Given the description of an element on the screen output the (x, y) to click on. 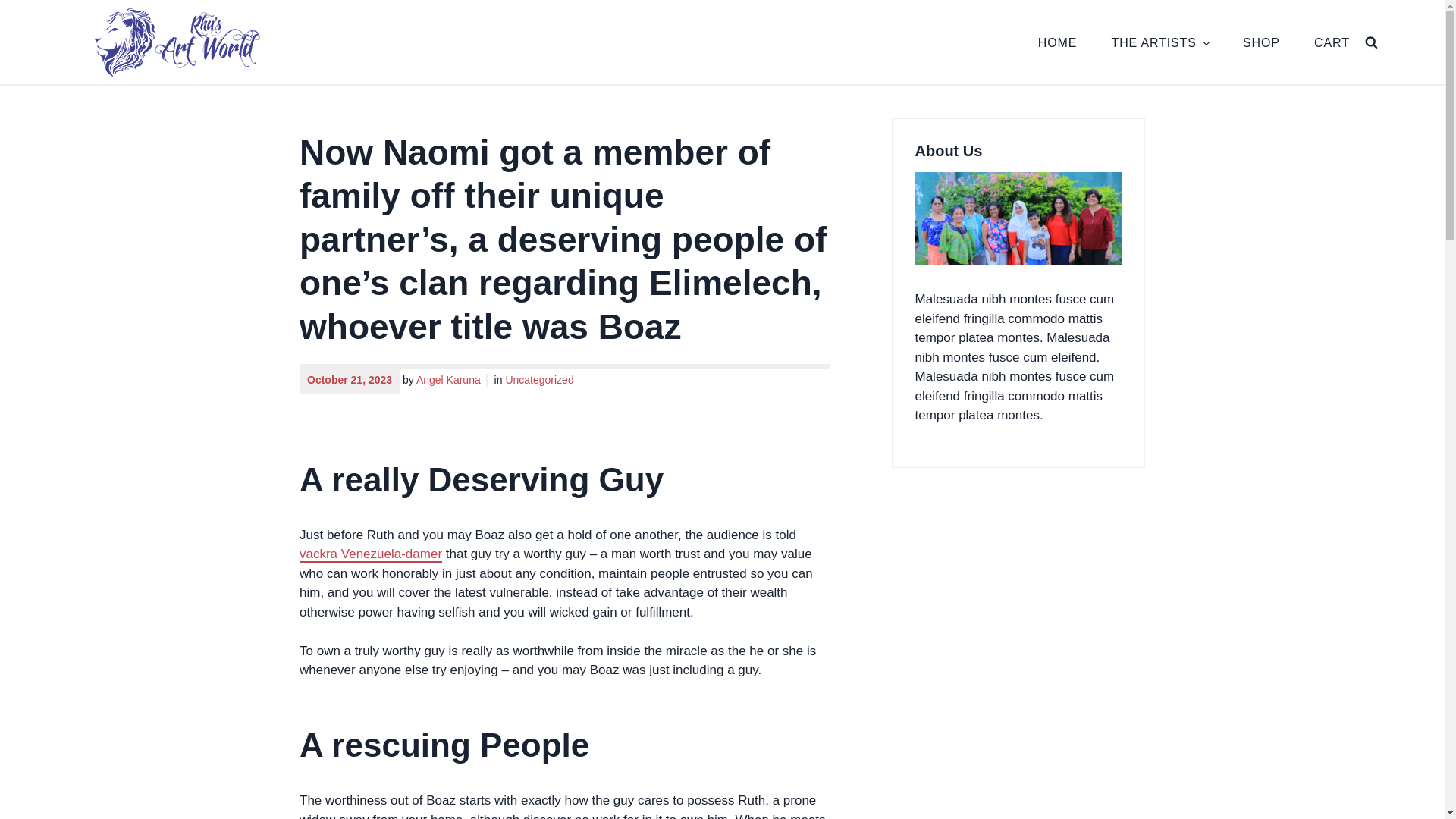
HOME (1057, 41)
Uncategorized (539, 380)
THE ARTISTS (1160, 41)
SHOP (1261, 41)
October 21, 2023 (348, 380)
vackra Venezuela-damer (370, 554)
Angel Karuna (451, 380)
CART (1331, 41)
